Given the description of an element on the screen output the (x, y) to click on. 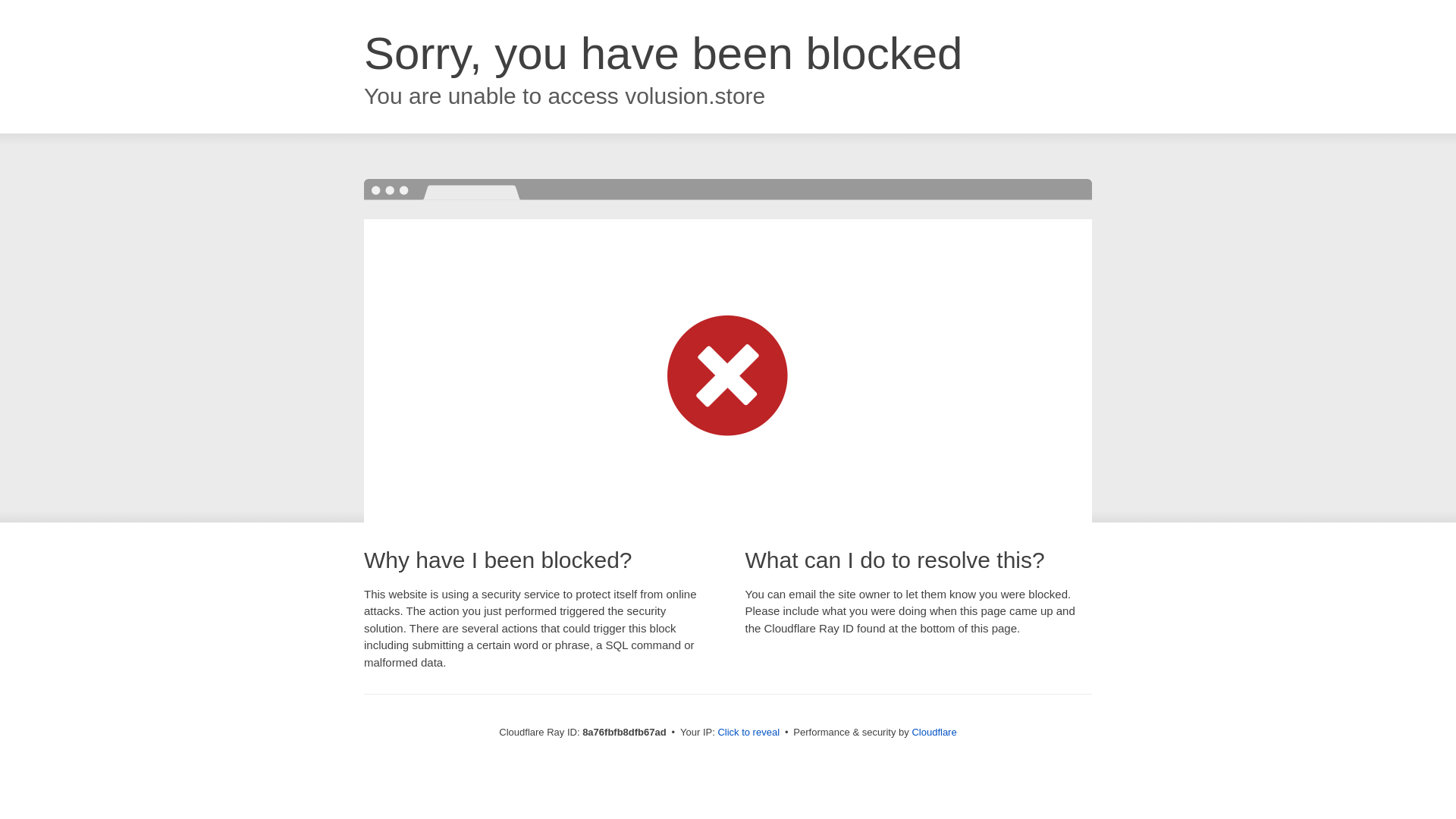
Click to reveal (747, 732)
Cloudflare (933, 731)
